Given the description of an element on the screen output the (x, y) to click on. 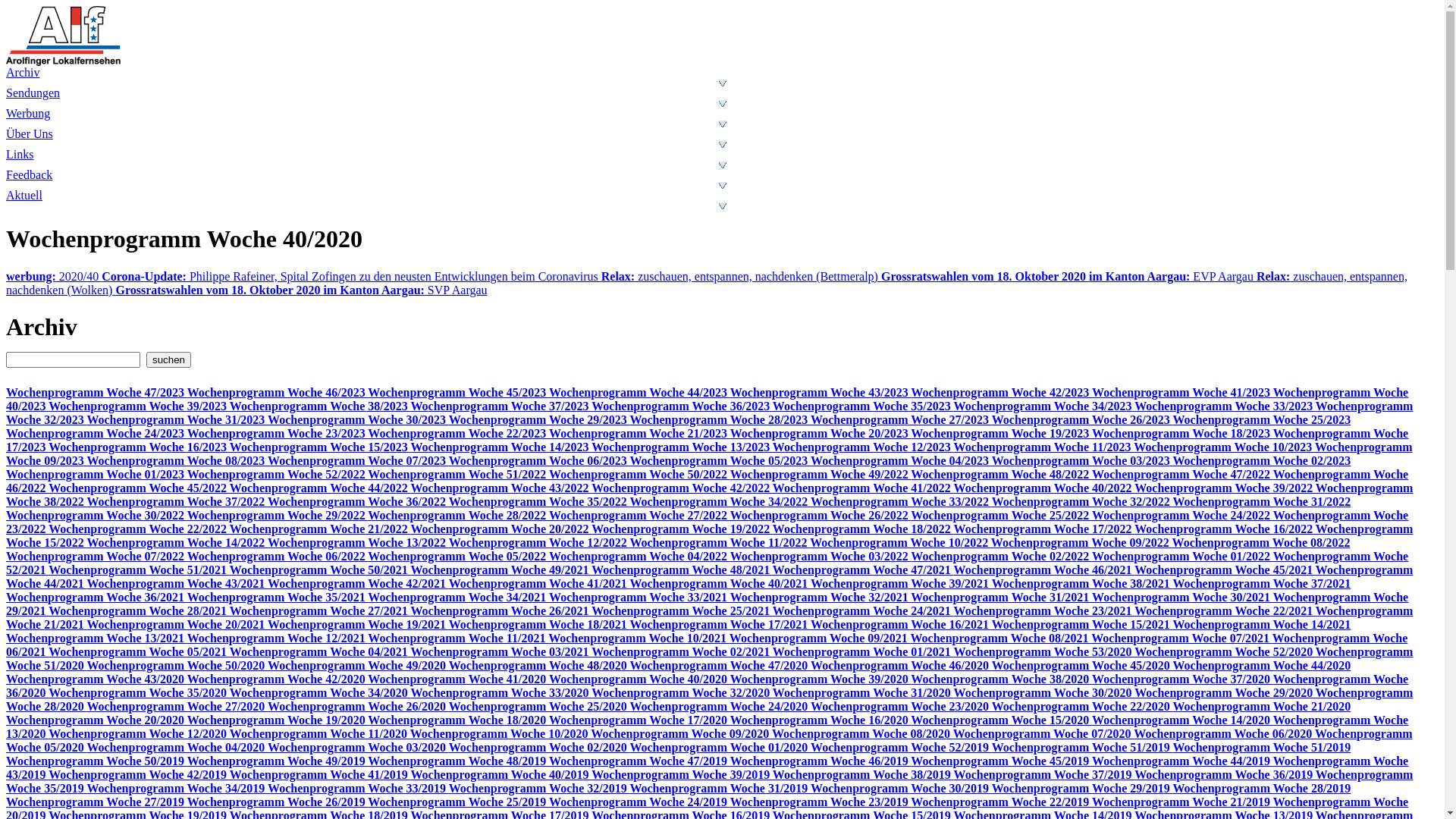
Wochenprogramm Woche 33/2023 Element type: text (1224, 405)
Wochenprogramm Woche 31/2020 Element type: text (862, 692)
Wochenprogramm Woche 28/2020 Element type: text (709, 699)
Wochenprogramm Woche 33/2022 Element type: text (900, 501)
Wochenprogramm Woche 39/2019 Element type: text (681, 774)
Wochenprogramm Woche 13/2020 Element type: text (707, 726)
Relax: zuschauen, entspannen, nachdenken (Wolken) Element type: text (706, 282)
Wochenprogramm Woche 27/2021 Element type: text (320, 610)
Wochenprogramm Woche 37/2022 Element type: text (176, 501)
Wochenprogramm Woche 26/2021 Element type: text (501, 610)
Wochenprogramm Woche 45/2020 Element type: text (1082, 664)
Wochenprogramm Woche 34/2021 Element type: text (458, 596)
Werbung Element type: text (722, 123)
Wochenprogramm Woche 44/2022 Element type: text (320, 487)
Wochenprogramm Woche 12/2023 Element type: text (862, 446)
Wochenprogramm Woche 30/2020 Element type: text (1044, 692)
Wochenprogramm Woche 19/2020 Element type: text (277, 719)
Wochenprogramm Woche 20/2021 Element type: text (176, 624)
Wochenprogramm Woche 13/2022 Element type: text (357, 542)
Wochenprogramm Woche 08/2020 Element type: text (862, 733)
Wochenprogramm Woche 20/2023 Element type: text (820, 432)
Wochenprogramm Woche 52/2021 Element type: text (707, 562)
Wochenprogramm Woche 33/2021 Element type: text (639, 596)
Wochenprogramm Woche 39/2021 Element type: text (900, 583)
Wochenprogramm Woche 49/2019 Element type: text (277, 760)
Wochenprogramm Woche 11/2021 Element type: text (457, 637)
Wochenprogramm Woche 01/2022 Element type: text (1182, 555)
Wochenprogramm Woche 38/2021 Element type: text (1082, 583)
Wochenprogramm Woche 17/2020 Element type: text (639, 719)
Wochenprogramm Woche 31/2023 Element type: text (176, 419)
Wochenprogramm Woche 51/2021 Element type: text (138, 569)
Wochenprogramm Woche 46/2020 Element type: text (900, 664)
Wochenprogramm Woche 12/2020 Element type: text (138, 733)
Wochenprogramm Woche 45/2021 Element type: text (1224, 569)
Wochenprogramm Woche 44/2020 Element type: text (1261, 664)
Wochenprogramm Woche 48/2019 Element type: text (458, 760)
Wochenprogramm Woche 18/2023 Element type: text (1182, 432)
Wochenprogramm Woche 05/2023 Element type: text (719, 460)
Wochenprogramm Woche 48/2022 Element type: text (1001, 473)
Wochenprogramm Woche 06/2020 Element type: text (1223, 733)
Wochenprogramm Woche 26/2020 Element type: text (357, 705)
Wochenprogramm Woche 46/2019 Element type: text (820, 760)
Wochenprogramm Woche 42/2023 Element type: text (1001, 391)
Wochenprogramm Woche 18/2022 Element type: text (862, 528)
Wochenprogramm Woche 43/2019 Element type: text (707, 767)
Wochenprogramm Woche 01/2021 Element type: text (862, 651)
Wochenprogramm Woche 21/2023 Element type: text (639, 432)
Wochenprogramm Woche 47/2020 Element type: text (719, 664)
Wochenprogramm Woche 32/2023 Element type: text (709, 412)
Wochenprogramm Woche 46/2022 Element type: text (707, 480)
Wochenprogramm Woche 50/2019 Element type: text (96, 760)
Wochenprogramm Woche 46/2023 Element type: text (277, 391)
Wochenprogramm Woche 44/2021 Element type: text (709, 576)
Wochenprogramm Woche 36/2019 Element type: text (1224, 774)
Wochenprogramm Woche 02/2020 Element type: text (539, 746)
Wochenprogramm Woche 27/2019 Element type: text (96, 801)
Wochenprogramm Woche 50/2021 Element type: text (320, 569)
Wochenprogramm Woche 06/2022 Element type: text (277, 555)
Wochenprogramm Woche 03/2022 Element type: text (820, 555)
Wochenprogramm Woche 33/2019 Element type: text (357, 787)
Wochenprogramm Woche 15/2022 Element type: text (709, 535)
Wochenprogramm Woche 31/2022 Element type: text (1261, 501)
Wochenprogramm Woche 17/2021 Element type: text (719, 624)
Wochenprogramm Woche 26/2023 Element type: text (1082, 419)
Wochenprogramm Woche 53/2020 Element type: text (1044, 651)
Wochenprogramm Woche 14/2023 Element type: text (501, 446)
Wochenprogramm Woche 24/2021 Element type: text (862, 610)
Wochenprogramm Woche 22/2021 Element type: text (1224, 610)
Wochenprogramm Woche 14/2022 Element type: text (176, 542)
Wochenprogramm Woche 16/2020 Element type: text (820, 719)
Wochenprogramm Woche 09/2020 Element type: text (680, 733)
Wochenprogramm Woche 35/2020 Element type: text (138, 692)
Wochenprogramm Woche 40/2019 Element type: text (501, 774)
Wochenprogramm Woche 03/2023 Element type: text (1082, 460)
Wochenprogramm Woche 25/2019 Element type: text (458, 801)
Wochenprogramm Woche 47/2021 Element type: text (862, 569)
Wochenprogramm Woche 08/2022 Element type: text (1261, 542)
Wochenprogramm Woche 10/2021 Element type: text (638, 637)
Wochenprogramm Woche 28/2021 Element type: text (138, 610)
Wochenprogramm Woche 45/2019 Element type: text (1001, 760)
Wochenprogramm Woche 24/2019 Element type: text (639, 801)
Wochenprogramm Woche 34/2022 Element type: text (719, 501)
Wochenprogramm Woche 07/2020 Element type: text (1043, 733)
Relax: zuschauen, entspannen, nachdenken (Bettmeralp) Element type: text (741, 275)
Wochenprogramm Woche 44/2019 Element type: text (1182, 760)
Wochenprogramm Woche 28/2022 Element type: text (458, 514)
Wochenprogramm Woche 32/2020 Element type: text (681, 692)
Wochenprogramm Woche 19/2023 Element type: text (1001, 432)
Wochenprogramm Woche 04/2020 Element type: text (176, 746)
Wochenprogramm Woche 40/2022 Element type: text (1044, 487)
Wochenprogramm Woche 16/2021 Element type: text (900, 624)
Wochenprogramm Woche 33/2020 Element type: text (501, 692)
Wochenprogramm Woche 42/2021 Element type: text (357, 583)
Wochenprogramm Woche 42/2019 Element type: text (138, 774)
Wochenprogramm Woche 38/2023 Element type: text (320, 405)
Wochenprogramm Woche 27/2022 Element type: text (639, 514)
Wochenprogramm Woche 17/2023 Element type: text (707, 439)
Wochenprogramm Woche 14/2020 Element type: text (1182, 719)
Wochenprogramm Woche 30/2023 Element type: text (357, 419)
Wochenprogramm Woche 43/2022 Element type: text (501, 487)
Wochenprogramm Woche 38/2019 Element type: text (862, 774)
Wochenprogramm Woche 29/2022 Element type: text (277, 514)
Wochenprogramm Woche 46/2021 Element type: text (1044, 569)
Wochenprogramm Woche 30/2019 Element type: text (900, 787)
Wochenprogramm Woche 51/2020 Element type: text (709, 658)
Wochenprogramm Woche 50/2022 Element type: text (639, 473)
Wochenprogramm Woche 43/2021 Element type: text (176, 583)
Wochenprogramm Woche 11/2022 Element type: text (719, 542)
Wochenprogramm Woche 28/2023 Element type: text (719, 419)
Wochenprogramm Woche 47/2023 Element type: text (96, 391)
Wochenprogramm Woche 01/2020 Element type: text (719, 746)
Wochenprogramm Woche 52/2019 Element type: text (900, 746)
Links Element type: text (722, 164)
Wochenprogramm Woche 12/2021 Element type: text (277, 637)
Wochenprogramm Woche 04/2023 Element type: text (900, 460)
Wochenprogramm Woche 15/2020 Element type: text (1001, 719)
Wochenprogramm Woche 35/2019 Element type: text (709, 781)
Wochenprogramm Woche 24/2023 Element type: text (96, 432)
Wochenprogramm Woche 51/2019 Element type: text (1261, 746)
Wochenprogramm Woche 29/2023 Element type: text (539, 419)
Wochenprogramm Woche 47/2022 Element type: text (1182, 473)
Sendungen Element type: text (722, 102)
Wochenprogramm Woche 29/2020 Element type: text (1224, 692)
Wochenprogramm Woche 20/2020 Element type: text (96, 719)
Wochenprogramm Woche 38/2022 Element type: text (709, 494)
Wochenprogramm Woche 45/2022 Element type: text (138, 487)
Wochenprogramm Woche 40/2021 Element type: text (719, 583)
Wochenprogramm Woche 21/2022 Element type: text (320, 528)
Wochenprogramm Woche 16/2022 Element type: text (1224, 528)
Wochenprogramm Woche 11/2020 Element type: text (319, 733)
Wochenprogramm Woche 47/2019 Element type: text (639, 760)
Wochenprogramm Woche 32/2022 Element type: text (1082, 501)
Wochenprogramm Woche 01/2023 Element type: text (96, 473)
Wochenprogramm Woche 42/2022 Element type: text (681, 487)
Wochenprogramm Woche 32/2019 Element type: text (539, 787)
Wochenprogramm Woche 35/2021 Element type: text (277, 596)
Archiv Element type: text (722, 82)
Wochenprogramm Woche 02/2021 Element type: text (681, 651)
Wochenprogramm Woche 30/2021 Element type: text (1182, 596)
Wochenprogramm Woche 22/2023 Element type: text (458, 432)
Wochenprogramm Woche 40/2020 Element type: text (639, 678)
Wochenprogramm Woche 37/2020 Element type: text (1182, 678)
Wochenprogramm Woche 23/2023 Element type: text (277, 432)
Wochenprogramm Woche 42/2020 Element type: text (277, 678)
Wochenprogramm Woche 23/2019 Element type: text (820, 801)
Wochenprogramm Woche 10/2020 Element type: text (500, 733)
Wochenprogramm Woche 19/2021 Element type: text (357, 624)
Wochenprogramm Woche 34/2020 Element type: text (320, 692)
Wochenprogramm Woche 02/2022 Element type: text (1001, 555)
Wochenprogramm Woche 36/2023 Element type: text (681, 405)
Wochenprogramm Woche 27/2023 Element type: text (900, 419)
Wochenprogramm Woche 36/2020 Element type: text (707, 685)
Wochenprogramm Woche 23/2020 Element type: text (900, 705)
Wochenprogramm Woche 19/2022 Element type: text (681, 528)
Wochenprogramm Woche 25/2023 Element type: text (1261, 419)
Wochenprogramm Woche 22/2019 Element type: text (1001, 801)
Wochenprogramm Woche 30/2022 Element type: text (96, 514)
Wochenprogramm Woche 23/2022 Element type: text (707, 521)
Wochenprogramm Woche 25/2020 Element type: text (539, 705)
Wochenprogramm Woche 14/2021 Element type: text (1261, 624)
Wochenprogramm Woche 43/2020 Element type: text (96, 678)
Wochenprogramm Woche 05/2021 Element type: text (138, 651)
Aktuell Element type: text (722, 198)
Wochenprogramm Woche 21/2020 Element type: text (1261, 705)
Wochenprogramm Woche 06/2023 Element type: text (539, 460)
Wochenprogramm Woche 32/2021 Element type: text (820, 596)
Wochenprogramm Woche 05/2022 Element type: text (458, 555)
Wochenprogramm Woche 44/2023 Element type: text (639, 391)
Wochenprogramm Woche 26/2019 Element type: text (277, 801)
Wochenprogramm Woche 41/2020 Element type: text (458, 678)
Wochenprogramm Woche 41/2022 Element type: text (862, 487)
Wochenprogramm Woche 39/2020 Element type: text (820, 678)
Wochenprogramm Woche 07/2022 Element type: text (96, 555)
Wochenprogramm Woche 03/2020 Element type: text (357, 746)
Wochenprogramm Woche 25/2021 Element type: text (681, 610)
Wochenprogramm Woche 39/2022 Element type: text (1224, 487)
Wochenprogramm Woche 49/2022 Element type: text (820, 473)
Wochenprogramm Woche 48/2021 Element type: text (681, 569)
Wochenprogramm Woche 09/2022 Element type: text (1081, 542)
Wochenprogramm Woche 21/2019 Element type: text (1182, 801)
Wochenprogramm Woche 51/2022 Element type: text (458, 473)
werbung: 2020/40 Element type: text (53, 275)
Feedback Element type: text (722, 184)
Wochenprogramm Woche 07/2023 Element type: text (357, 460)
Wochenprogramm Woche 41/2019 Element type: text (320, 774)
Wochenprogramm Woche 48/2020 Element type: text (539, 664)
Wochenprogramm Woche 40/2023 Element type: text (707, 398)
Wochenprogramm Woche 35/2023 Element type: text (862, 405)
Wochenprogramm Woche 08/2021 Element type: text (1000, 637)
Wochenprogramm Woche 08/2023 Element type: text (176, 460)
Wochenprogramm Woche 37/2021 Element type: text (1261, 583)
Wochenprogramm Woche 13/2023 Element type: text (681, 446)
Wochenprogramm Woche 31/2021 Element type: text (1001, 596)
Wochenprogramm Woche 23/2021 Element type: text (1044, 610)
Wochenprogramm Woche 11/2023 Element type: text (1043, 446)
Wochenprogramm Woche 10/2023 Element type: text (1223, 446)
Wochenprogramm Woche 15/2021 Element type: text (1082, 624)
Wochenprogramm Woche 15/2023 Element type: text (320, 446)
Wochenprogramm Woche 17/2022 Element type: text (1044, 528)
Wochenprogramm Woche 36/2022 Element type: text (357, 501)
Wochenprogramm Woche 41/2023 Element type: text (1182, 391)
Wochenprogramm Woche 28/2019 Element type: text (1261, 787)
Wochenprogramm Woche 09/2023 Element type: text (709, 453)
Wochenprogramm Woche 52/2022 Element type: text (277, 473)
Wochenprogramm Woche 43/2023 Element type: text (820, 391)
suchen Element type: text (168, 359)
Wochenprogramm Woche 34/2023 Element type: text (1044, 405)
Wochenprogramm Woche 52/2020 Element type: text (1224, 651)
Wochenprogramm Woche 06/2021 Element type: text (706, 644)
Wochenprogramm Woche 18/2020 Element type: text (458, 719)
Wochenprogramm Woche 12/2022 Element type: text (539, 542)
Wochenprogramm Woche 13/2021 Element type: text (96, 637)
Wochenprogramm Woche 29/2019 Element type: text (1082, 787)
Wochenprogramm Woche 05/2020 Element type: text (709, 740)
Wochenprogramm Woche 24/2020 Element type: text (719, 705)
Wochenprogramm Woche 22/2020 Element type: text (1082, 705)
Wochenprogramm Woche 51/2019 Element type: text (1082, 746)
Wochenprogramm Woche 04/2022 Element type: text (639, 555)
Wochenprogramm Woche 20/2022 Element type: text (501, 528)
Wochenprogramm Woche 50/2020 Element type: text (176, 664)
Wochenprogramm Woche 26/2022 Element type: text (820, 514)
Wochenprogramm Woche 03/2021 Element type: text (501, 651)
Wochenprogramm Woche 24/2022 Element type: text (1182, 514)
Wochenprogramm Woche 37/2019 Element type: text (1044, 774)
Wochenprogramm Woche 02/2023 Element type: text (1261, 460)
Wochenprogramm Woche 10/2022 Element type: text (900, 542)
Wochenprogramm Woche 22/2022 Element type: text (138, 528)
Wochenprogramm Woche 41/2021 Element type: text (539, 583)
Wochenprogramm Woche 04/2021 Element type: text (320, 651)
Wochenprogramm Woche 45/2023 Element type: text (458, 391)
Wochenprogramm Woche 25/2022 Element type: text (1001, 514)
Wochenprogramm Woche 36/2021 Element type: text (96, 596)
Wochenprogramm Woche 16/2023 Element type: text (138, 446)
Wochenprogramm Woche 34/2019 Element type: text (176, 787)
Wochenprogramm Woche 27/2020 Element type: text (176, 705)
Wochenprogramm Woche 38/2020 Element type: text (1001, 678)
Wochenprogramm Woche 07/2021 Element type: text (1181, 637)
Wochenprogramm Woche 29/2021 Element type: text (707, 603)
Wochenprogramm Woche 18/2021 Element type: text (539, 624)
Wochenprogramm Woche 35/2022 Element type: text (539, 501)
Wochenprogramm Woche 39/2023 Element type: text (138, 405)
Wochenprogramm Woche 49/2020 Element type: text (357, 664)
Wochenprogramm Woche 49/2021 Element type: text (501, 569)
Wochenprogramm Woche 37/2023 Element type: text (501, 405)
Wochenprogramm Woche 21/2021 Element type: text (709, 617)
Wochenprogramm Woche 09/2021 Element type: text (819, 637)
Wochenprogramm Woche 31/2019 Element type: text (719, 787)
